Given the description of an element on the screen output the (x, y) to click on. 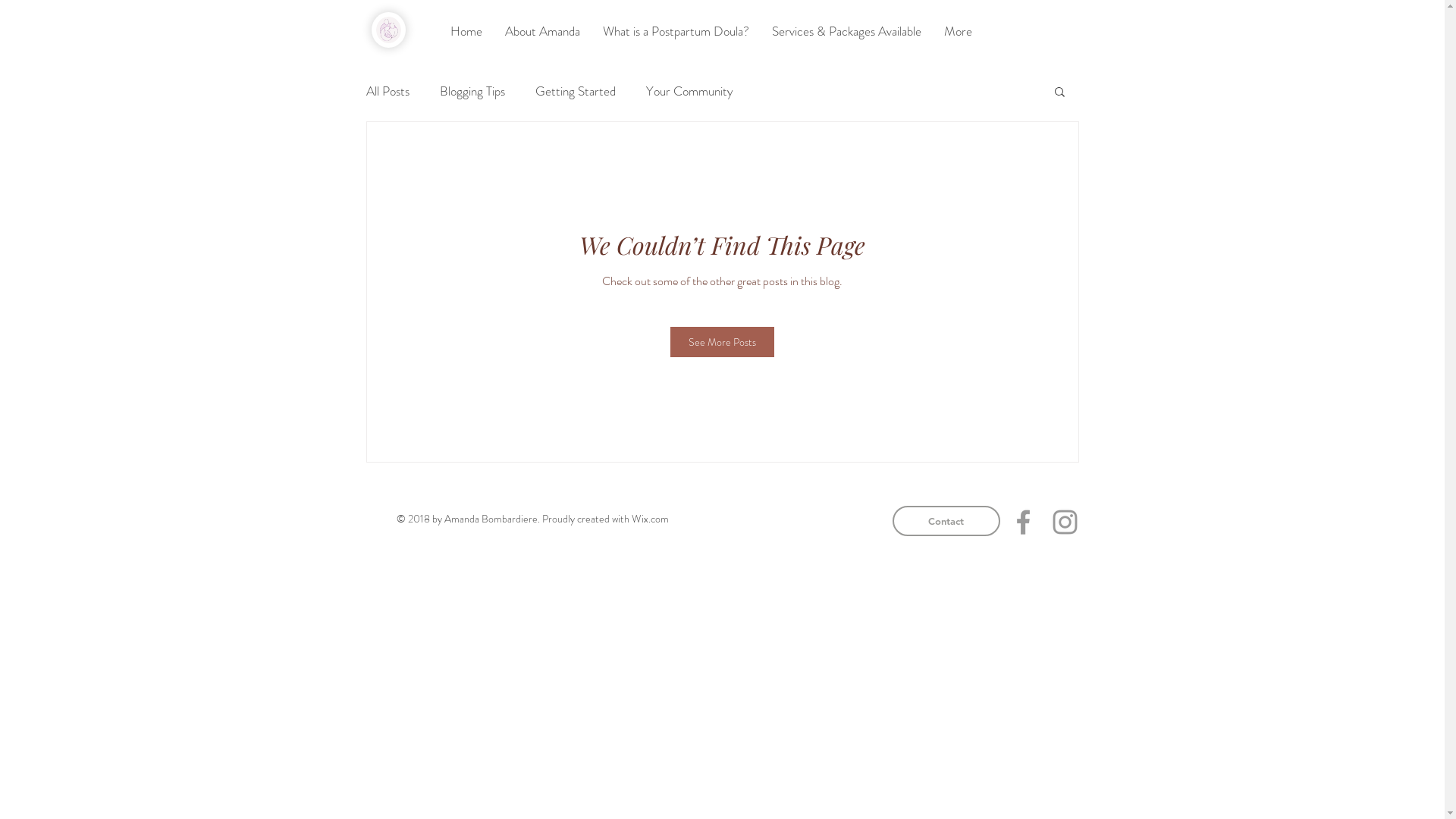
About Amanda Element type: text (541, 31)
Your Community Element type: text (689, 90)
Getting Started Element type: text (575, 90)
See More Posts Element type: text (722, 341)
What is a Postpartum Doula? Element type: text (675, 31)
Contact Element type: text (945, 520)
Wix.com Element type: text (649, 518)
Blogging Tips Element type: text (472, 90)
All Posts Element type: text (386, 90)
Home Element type: text (465, 31)
Services & Packages Available Element type: text (845, 31)
